Given the description of an element on the screen output the (x, y) to click on. 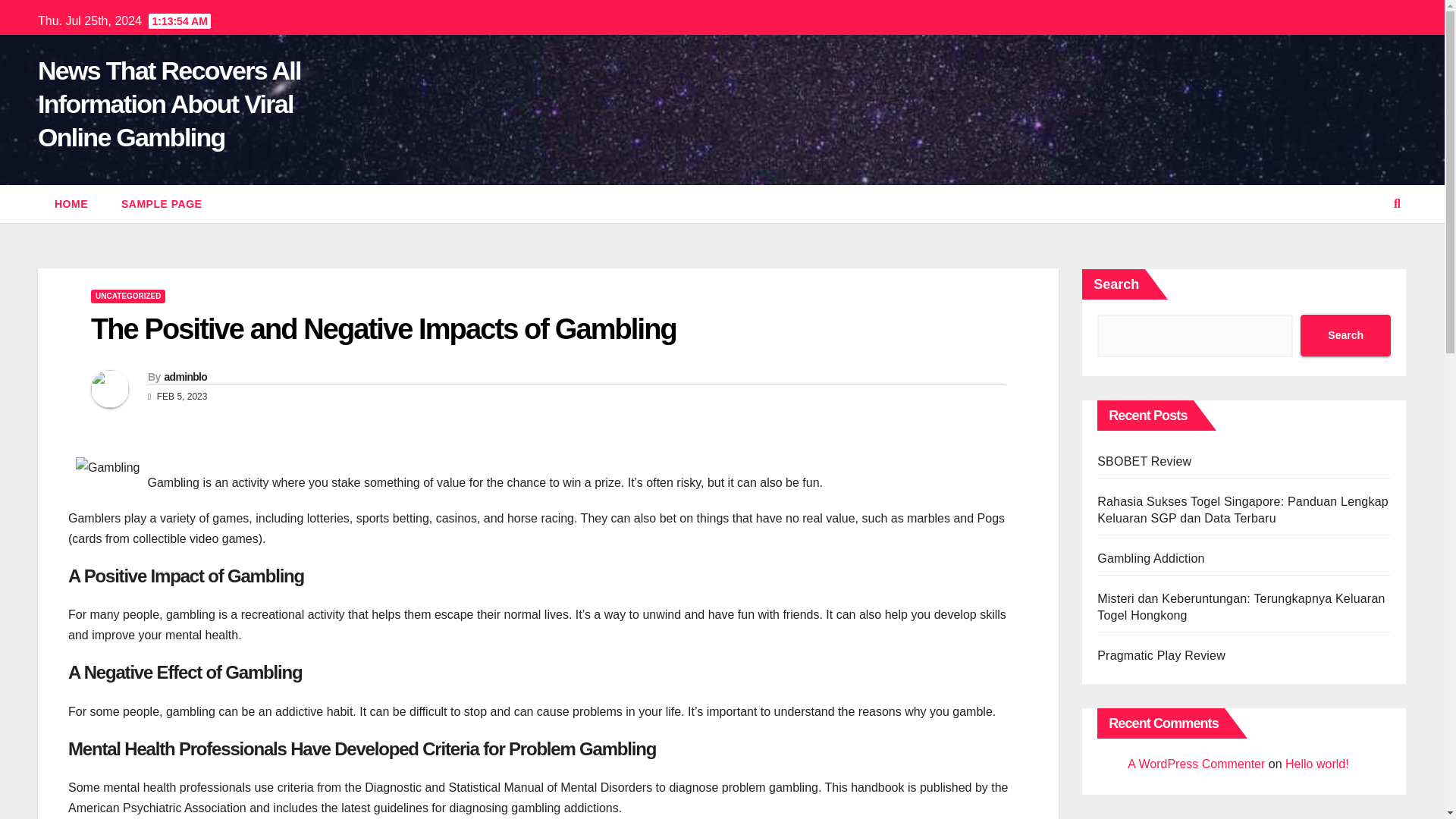
Pragmatic Play Review (1161, 655)
SBOBET Review (1144, 461)
The Positive and Negative Impacts of Gambling (383, 328)
A WordPress Commenter (1195, 763)
SAMPLE PAGE (161, 203)
Permalink to: The Positive and Negative Impacts of Gambling (383, 328)
Home (70, 203)
Gambling Addiction (1150, 558)
Search (1345, 335)
HOME (70, 203)
UNCATEGORIZED (127, 296)
adminblo (184, 377)
